Given the description of an element on the screen output the (x, y) to click on. 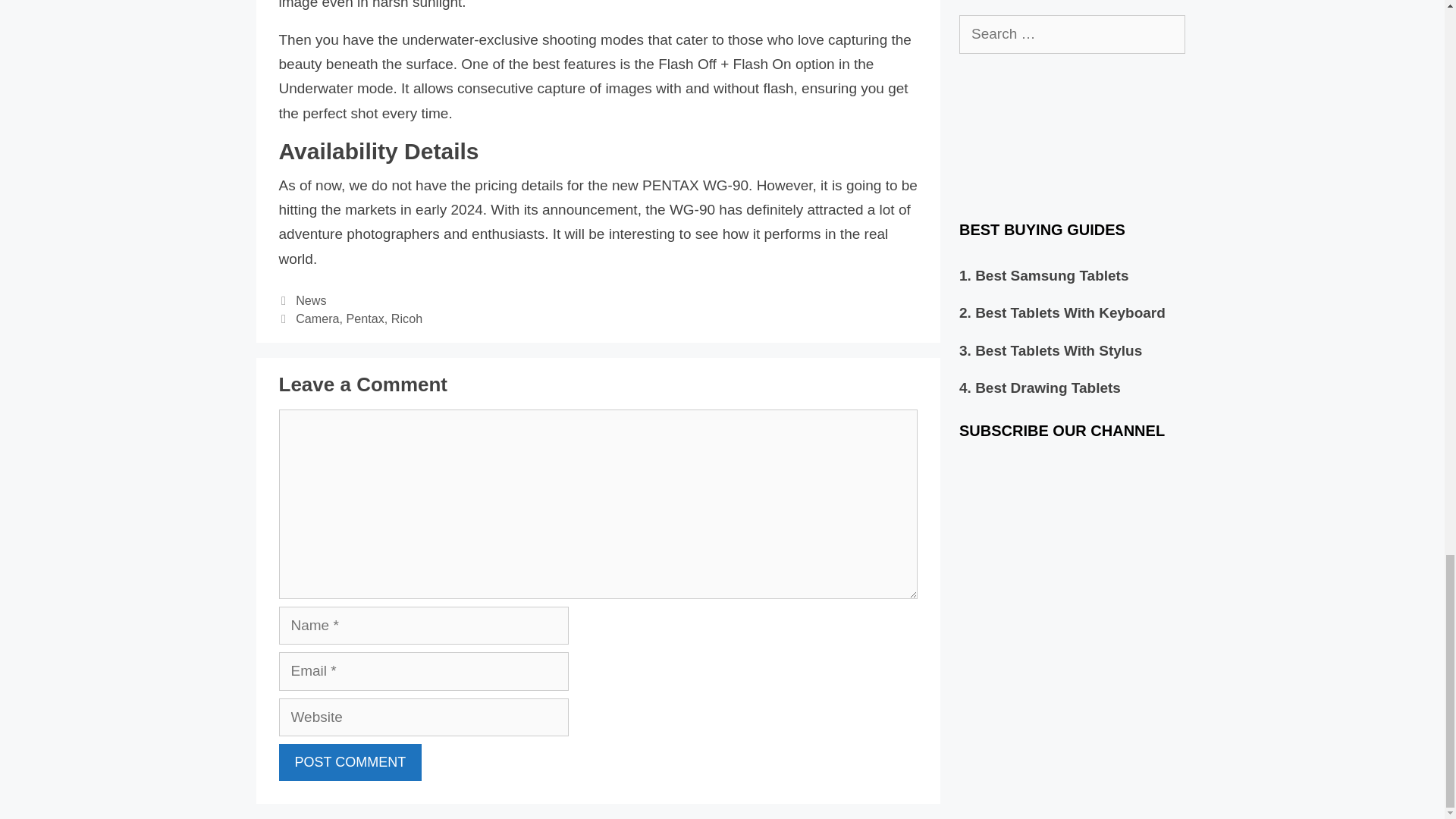
Post Comment (350, 762)
Ricoh (406, 318)
Camera (317, 318)
Pentax (365, 318)
News (310, 300)
Post Comment (350, 762)
